Given the description of an element on the screen output the (x, y) to click on. 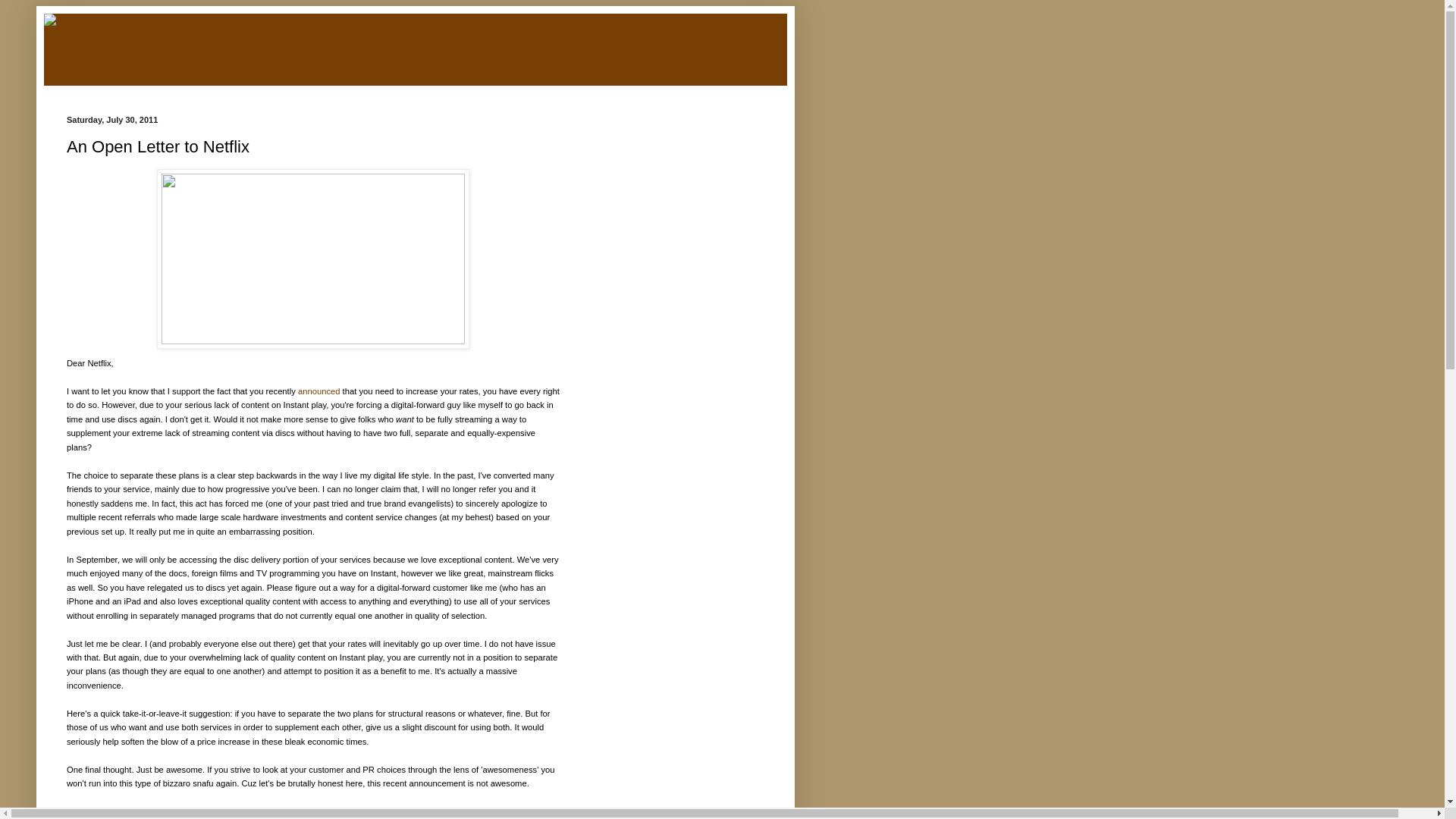
announced (319, 390)
